Given the description of an element on the screen output the (x, y) to click on. 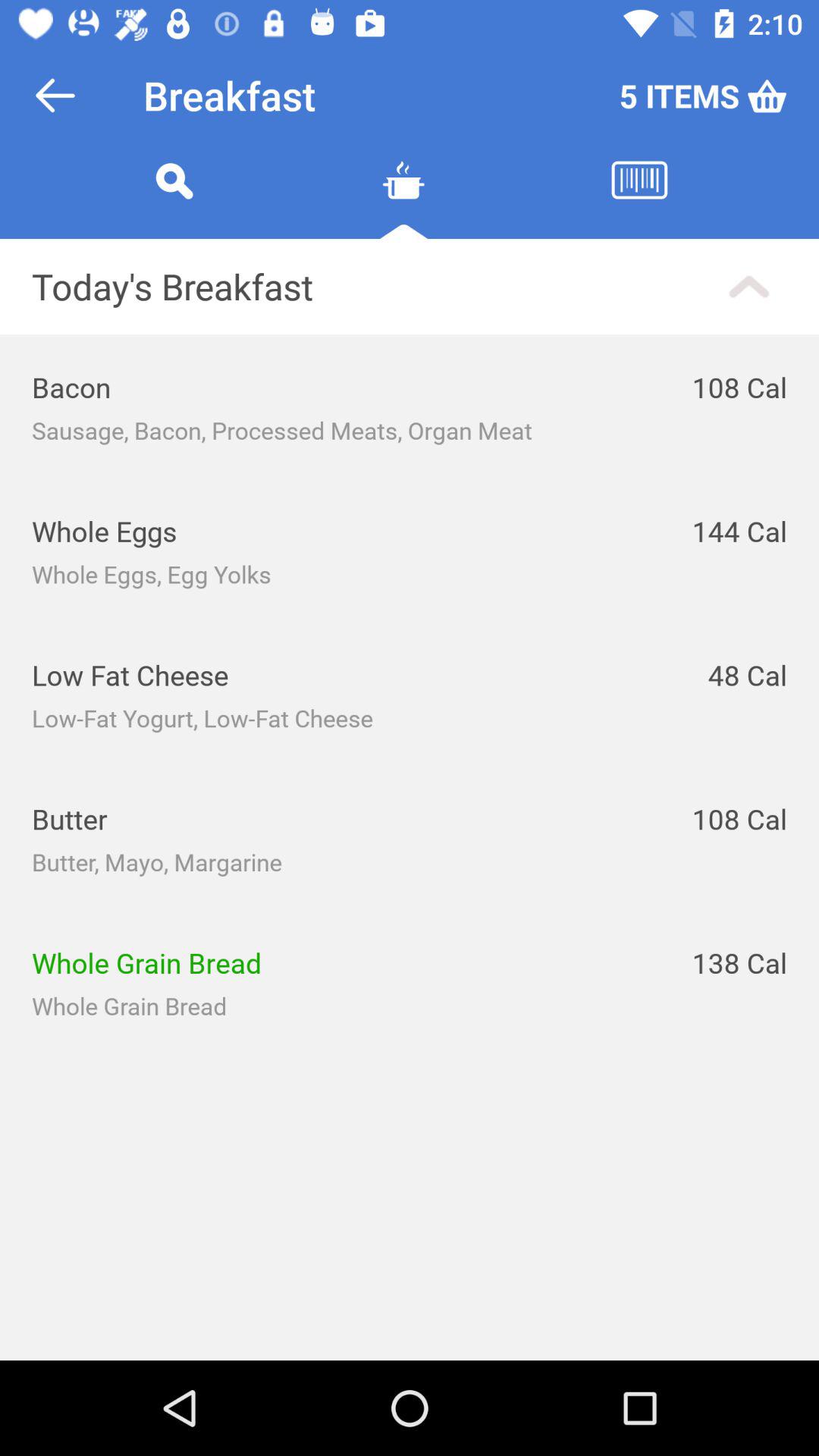
search query (173, 198)
